Given the description of an element on the screen output the (x, y) to click on. 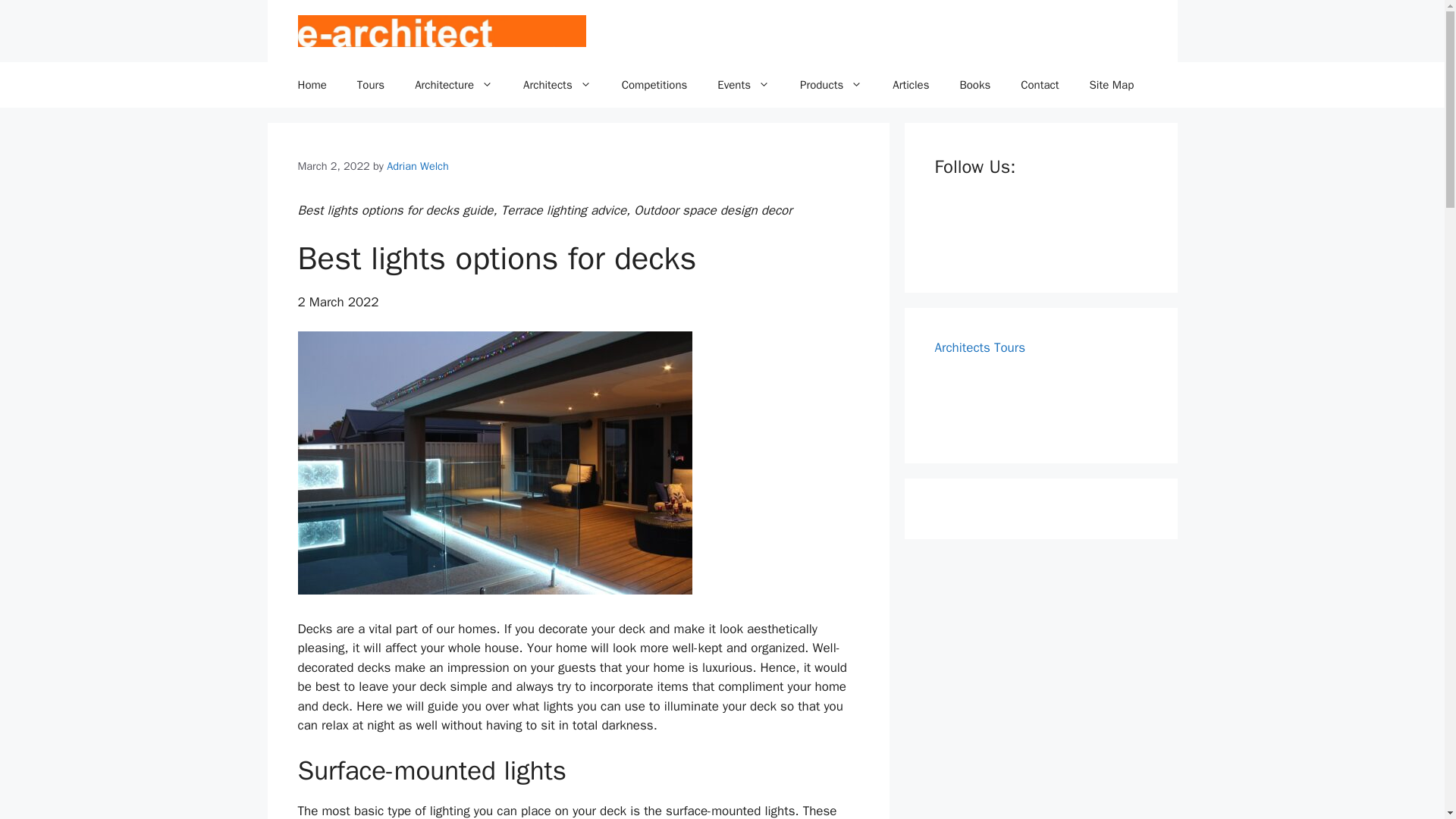
Products (830, 84)
facebook (954, 235)
Site Map (1112, 84)
twitter (1000, 235)
Books (974, 84)
Home (311, 84)
View all posts by Adrian Welch (417, 165)
Tours (370, 84)
Home (311, 84)
Events (742, 84)
